Given the description of an element on the screen output the (x, y) to click on. 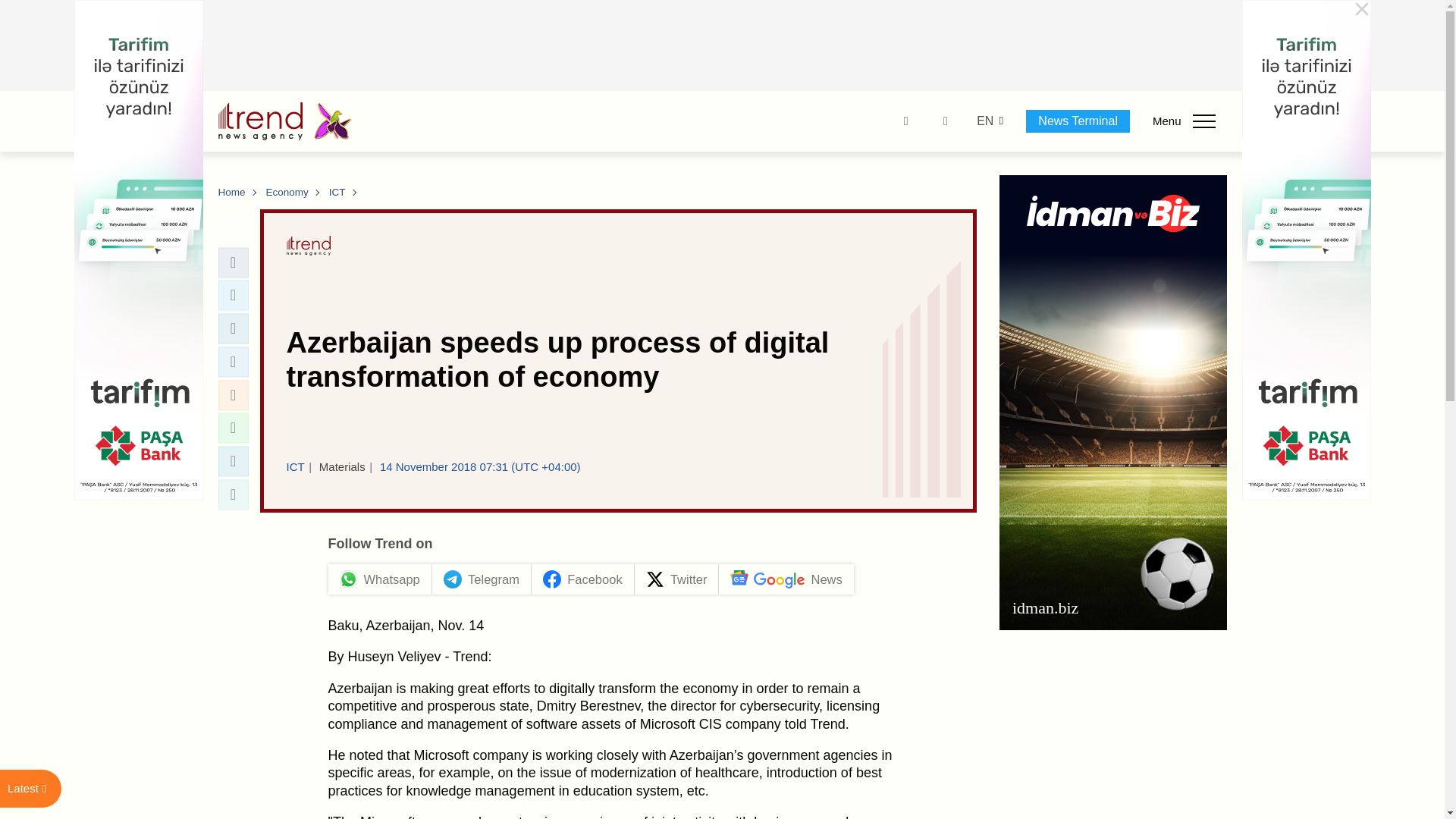
English (984, 121)
3rd party ad content (722, 45)
News Terminal (1077, 120)
EN (984, 121)
